Given the description of an element on the screen output the (x, y) to click on. 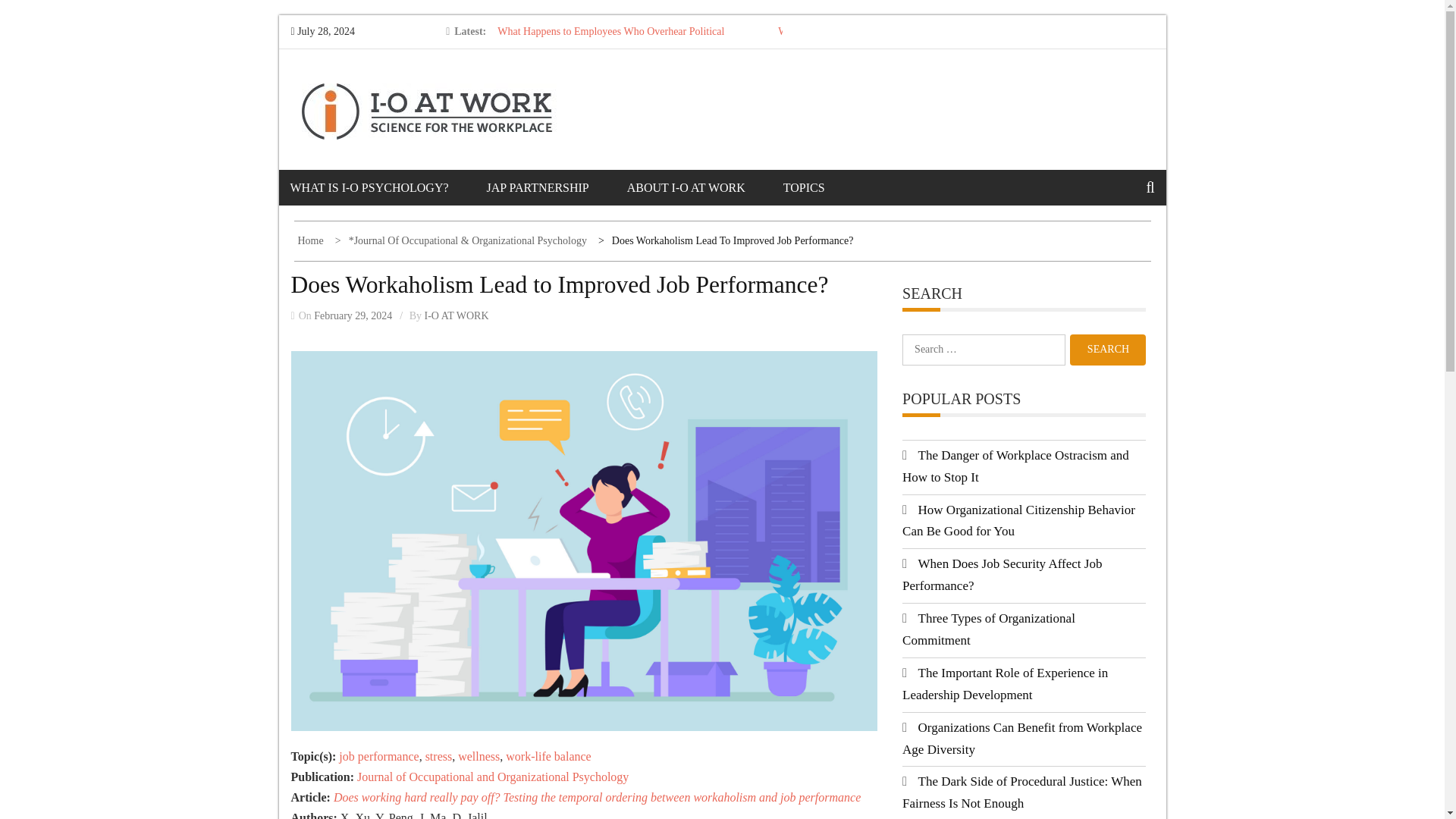
Three Types of Organizational Commitment (988, 628)
View all posts in stress (438, 756)
View all posts in work-life balance (548, 756)
February 29, 2024 (352, 315)
stress (438, 756)
How Organizational Citizenship Behavior Can Be Good for You (1018, 520)
The Important Role of Experience in Leadership Development (1005, 683)
I-O AT WORK (457, 315)
ABOUT I-O AT WORK (705, 187)
JAP PARTNERSHIP (556, 187)
TOPICS (823, 187)
WHAT IS I-O PSYCHOLOGY? (387, 187)
work-life balance (548, 756)
